Given the description of an element on the screen output the (x, y) to click on. 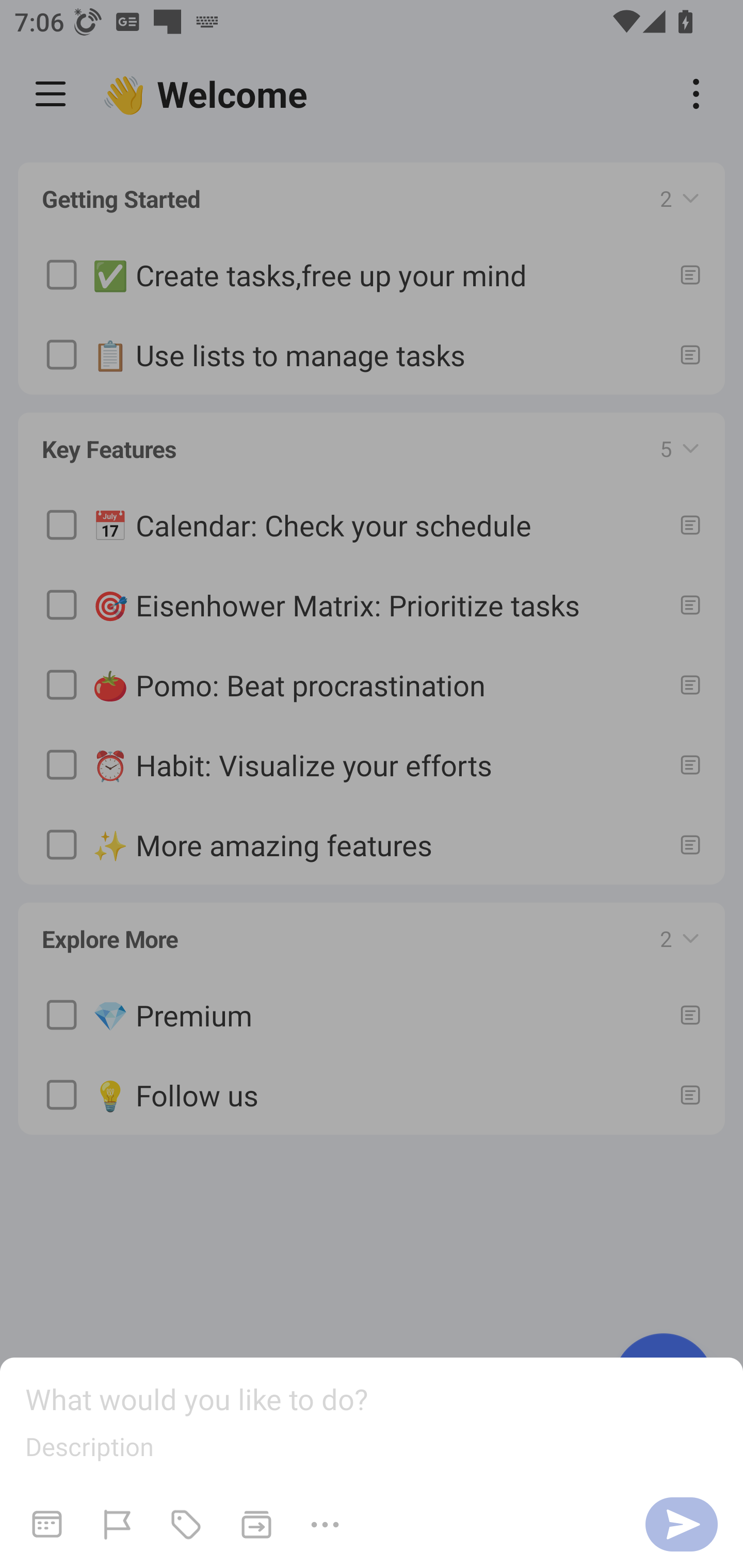
What would you like to do? Description (371, 1462)
